Given the description of an element on the screen output the (x, y) to click on. 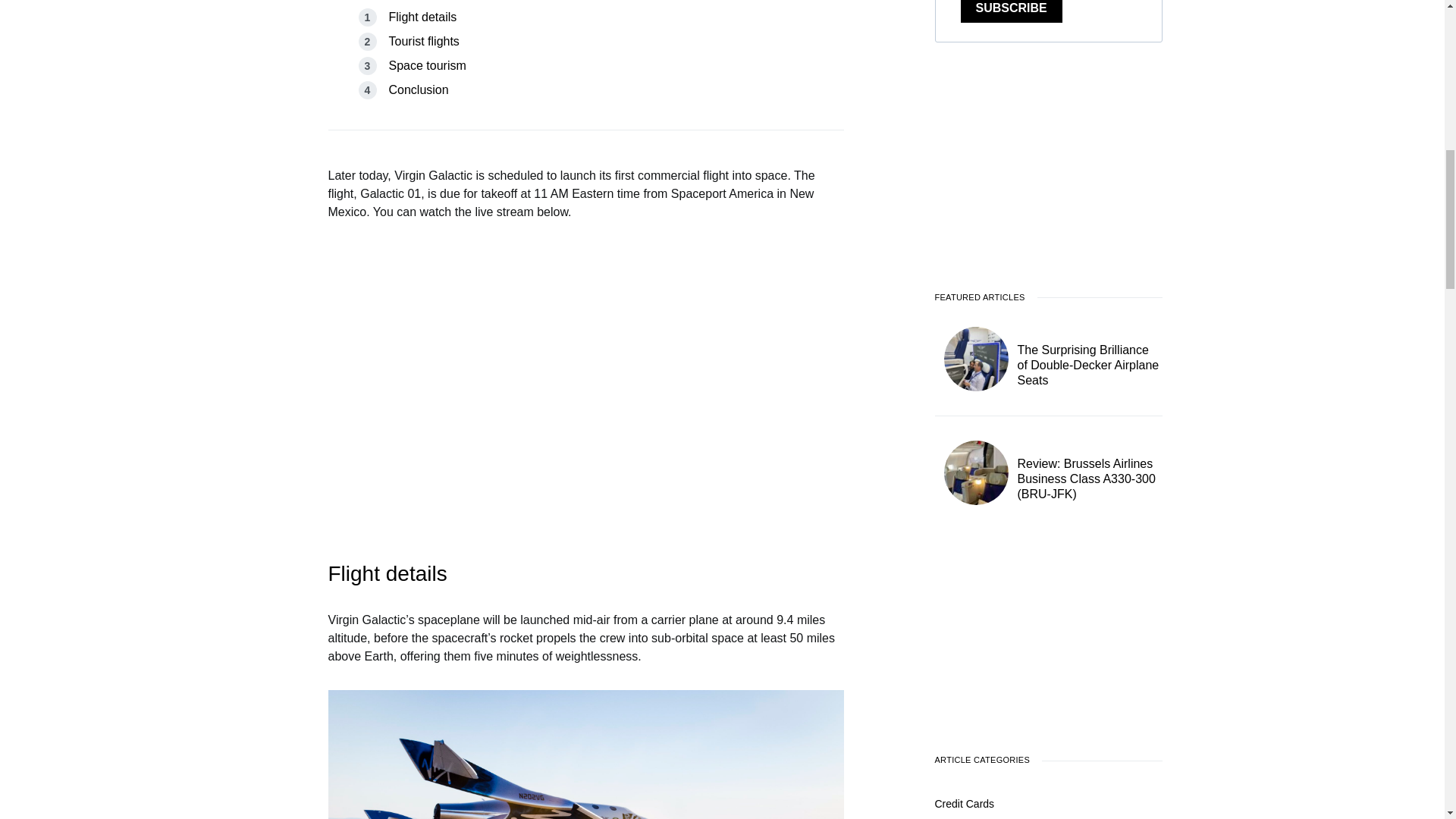
Conclusion (418, 89)
The Surprising Brilliance of Double-Decker Airplane Seats (1089, 379)
Space tourism (426, 65)
Tourist flights (423, 41)
Flight details (422, 16)
